Given the description of an element on the screen output the (x, y) to click on. 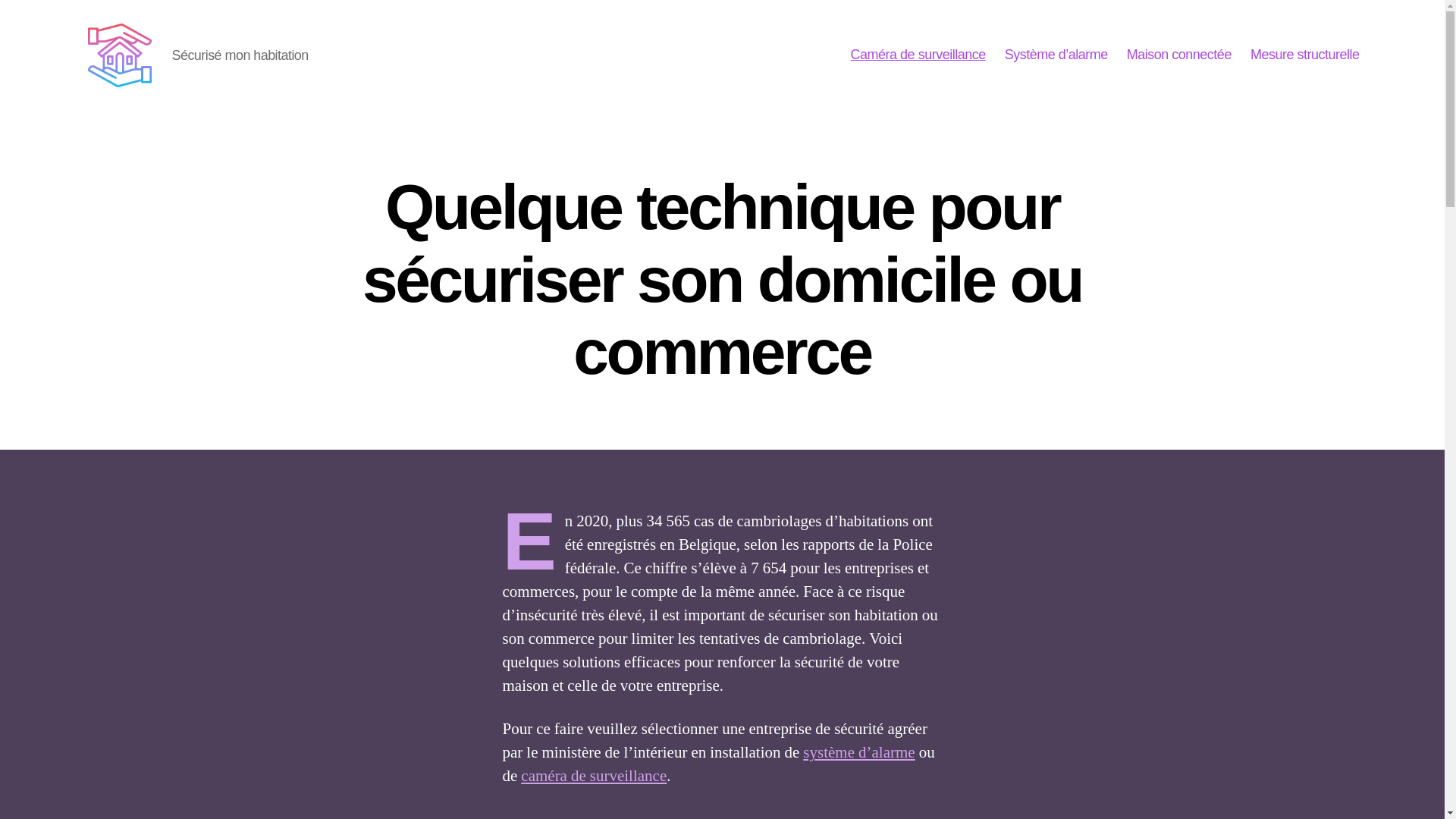
Mesure structurelle Element type: text (1304, 55)
